Given the description of an element on the screen output the (x, y) to click on. 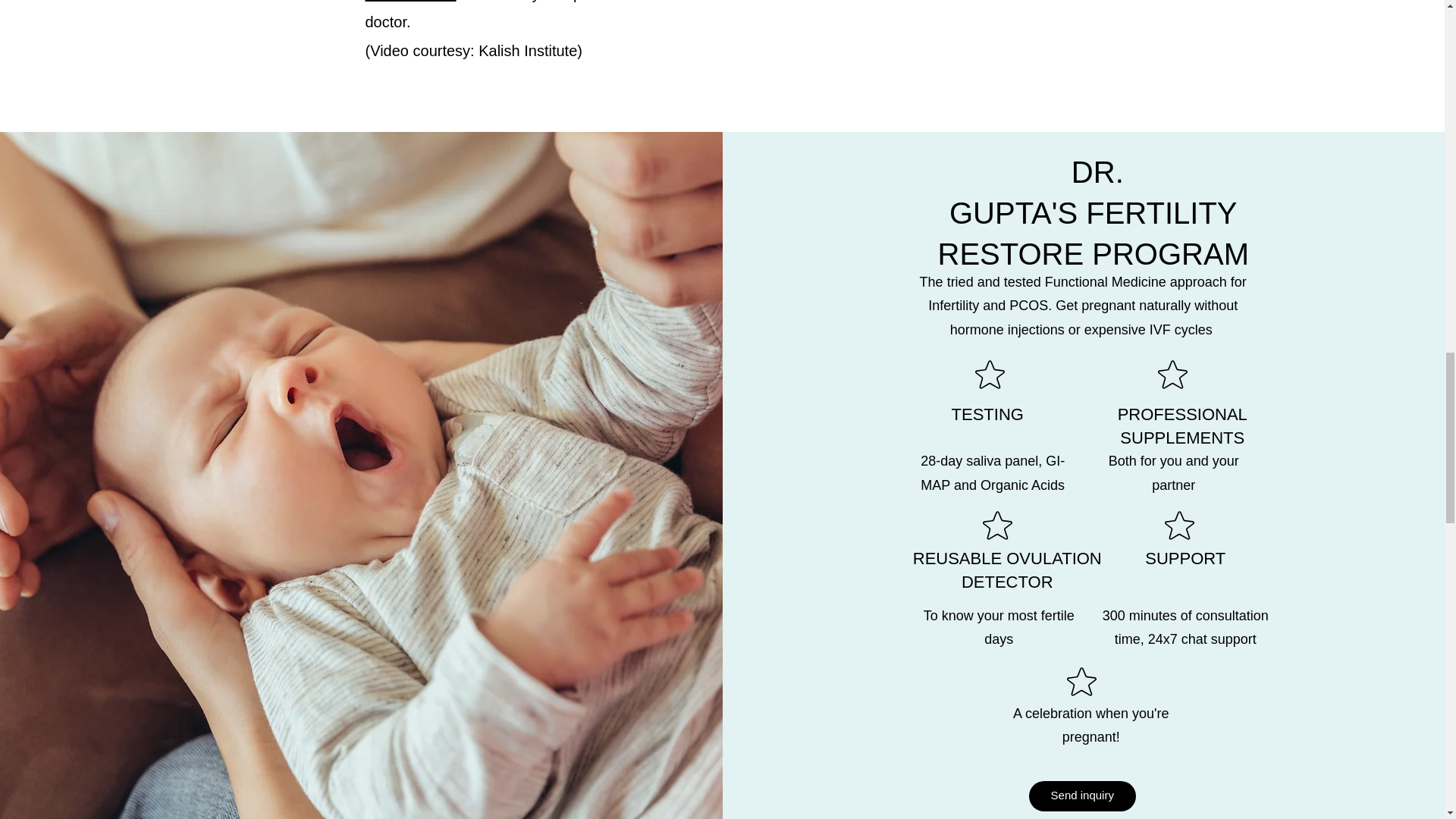
External YouTube (903, 48)
Send inquiry (1082, 796)
